Given the description of an element on the screen output the (x, y) to click on. 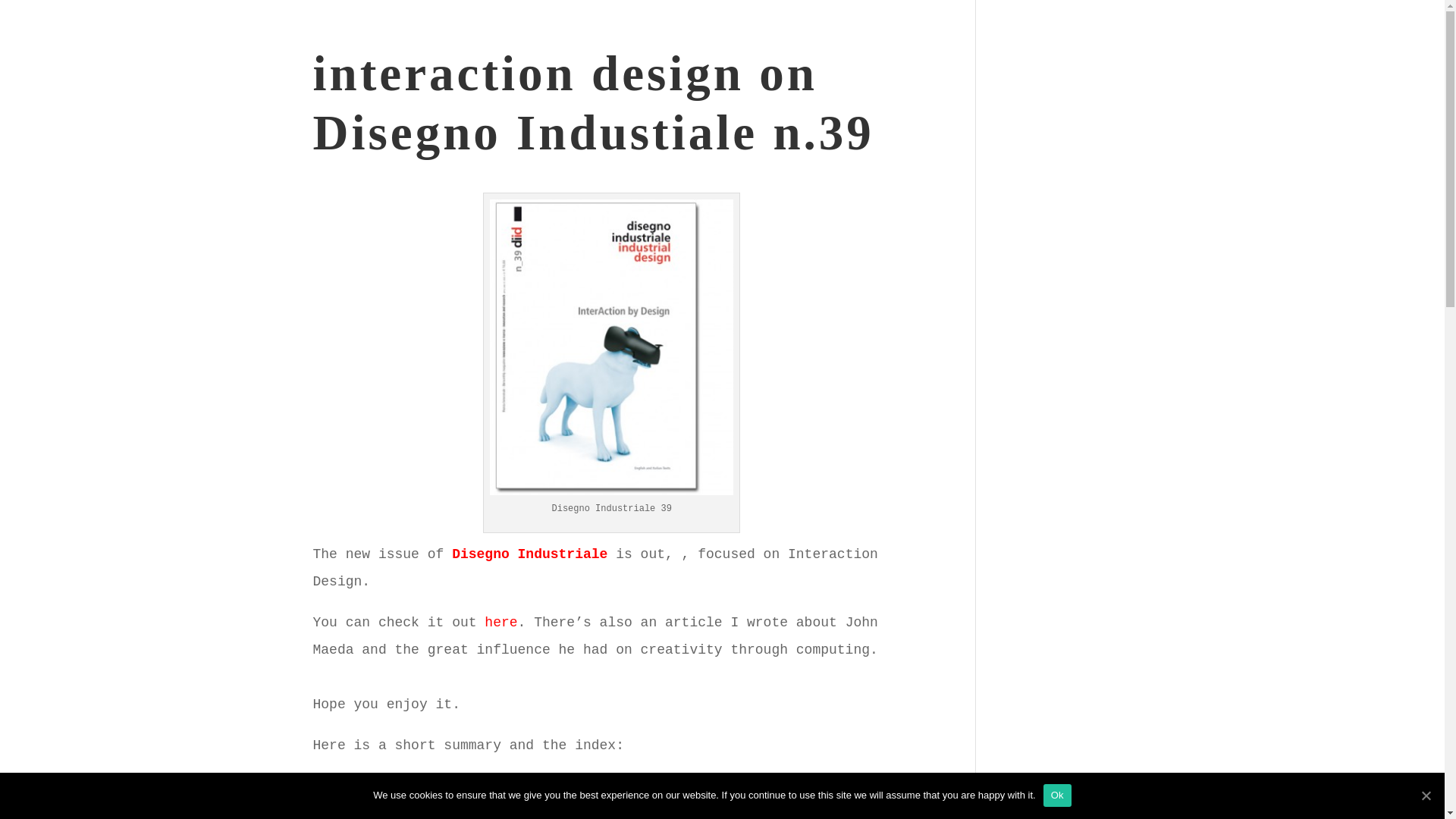
Ok (1057, 794)
Disegno Industriale (529, 554)
here (500, 622)
